Given the description of an element on the screen output the (x, y) to click on. 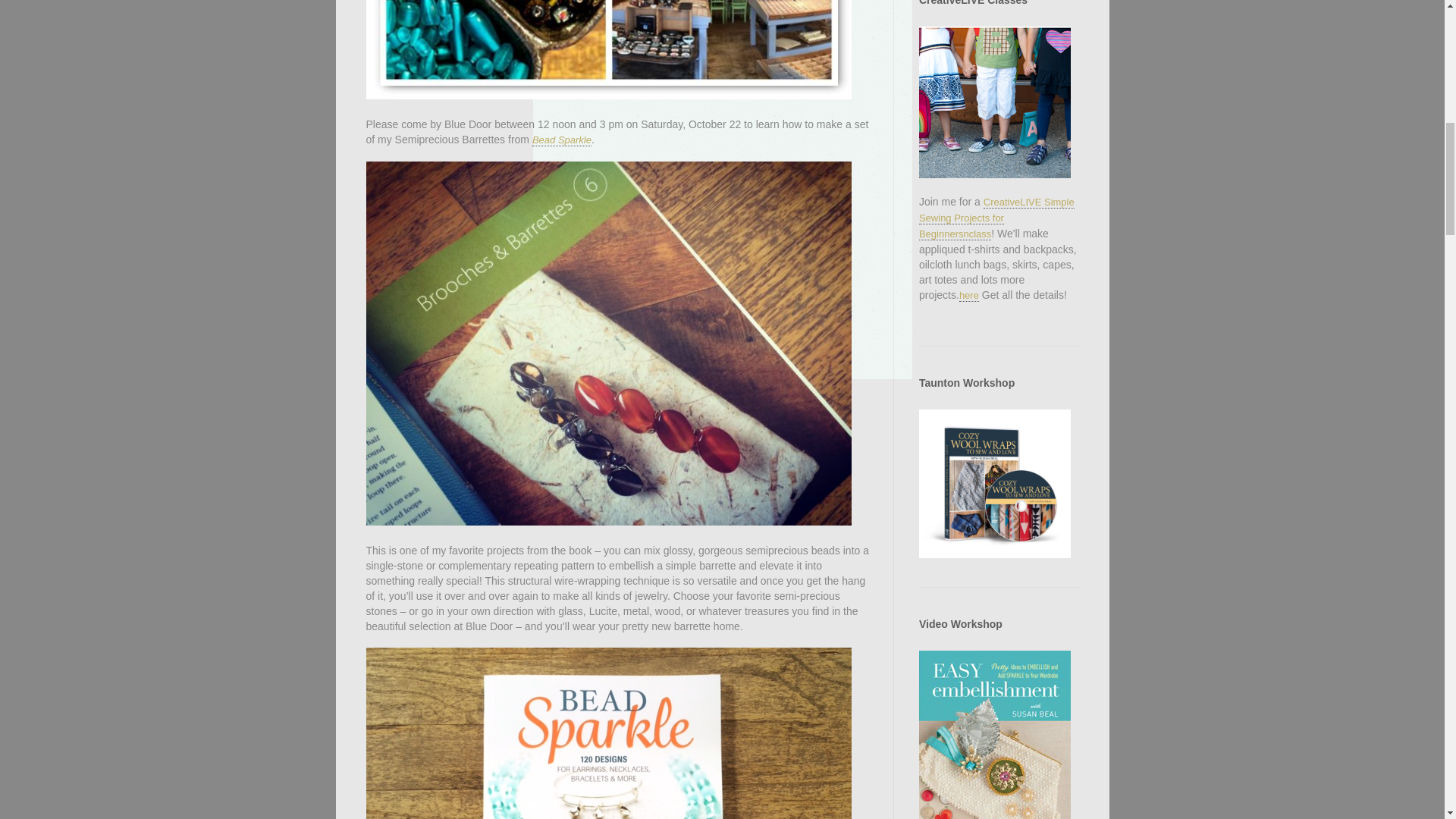
Bead Sparkle (561, 140)
